Given the description of an element on the screen output the (x, y) to click on. 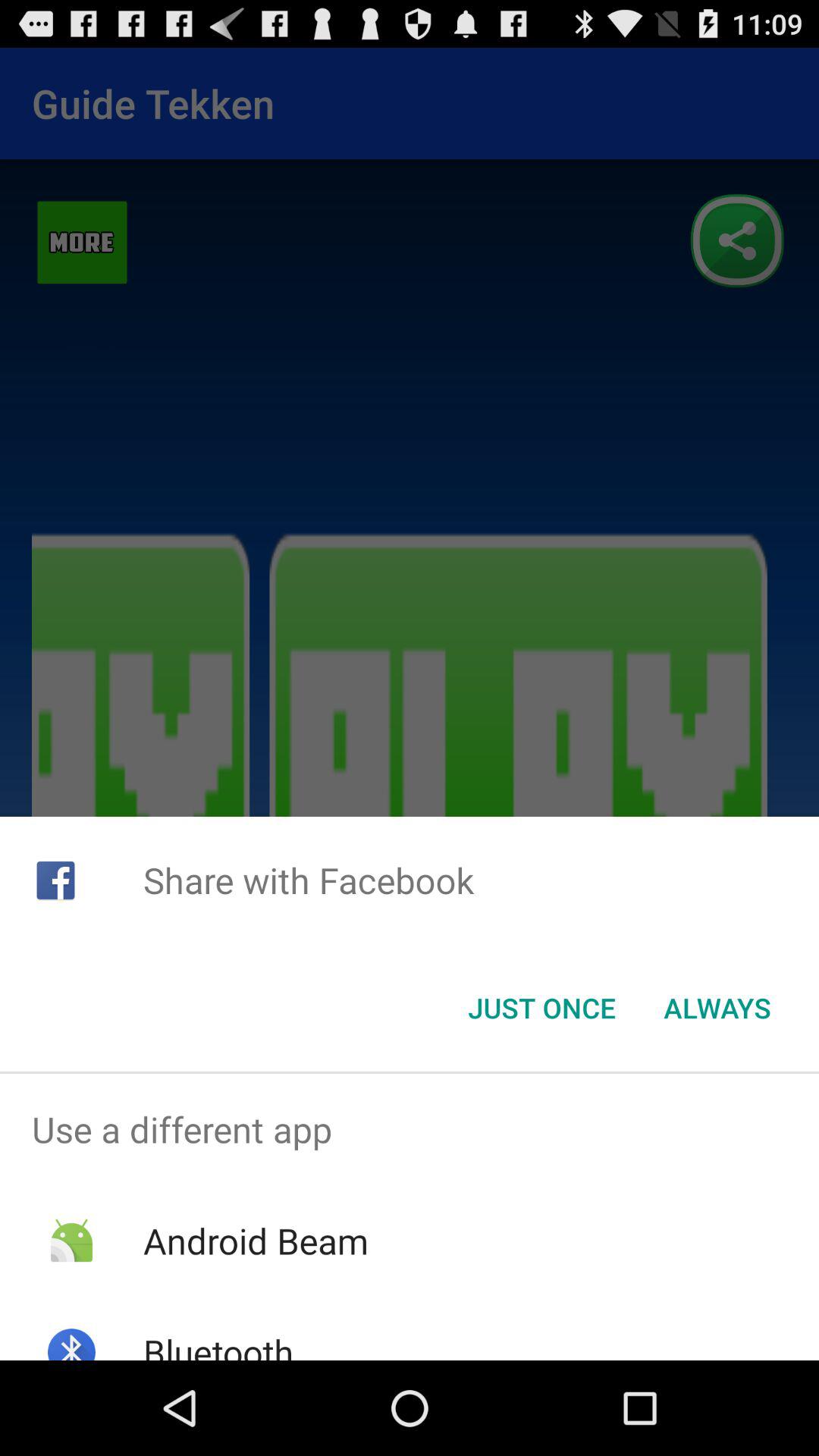
tap the icon to the right of the just once button (717, 1007)
